Given the description of an element on the screen output the (x, y) to click on. 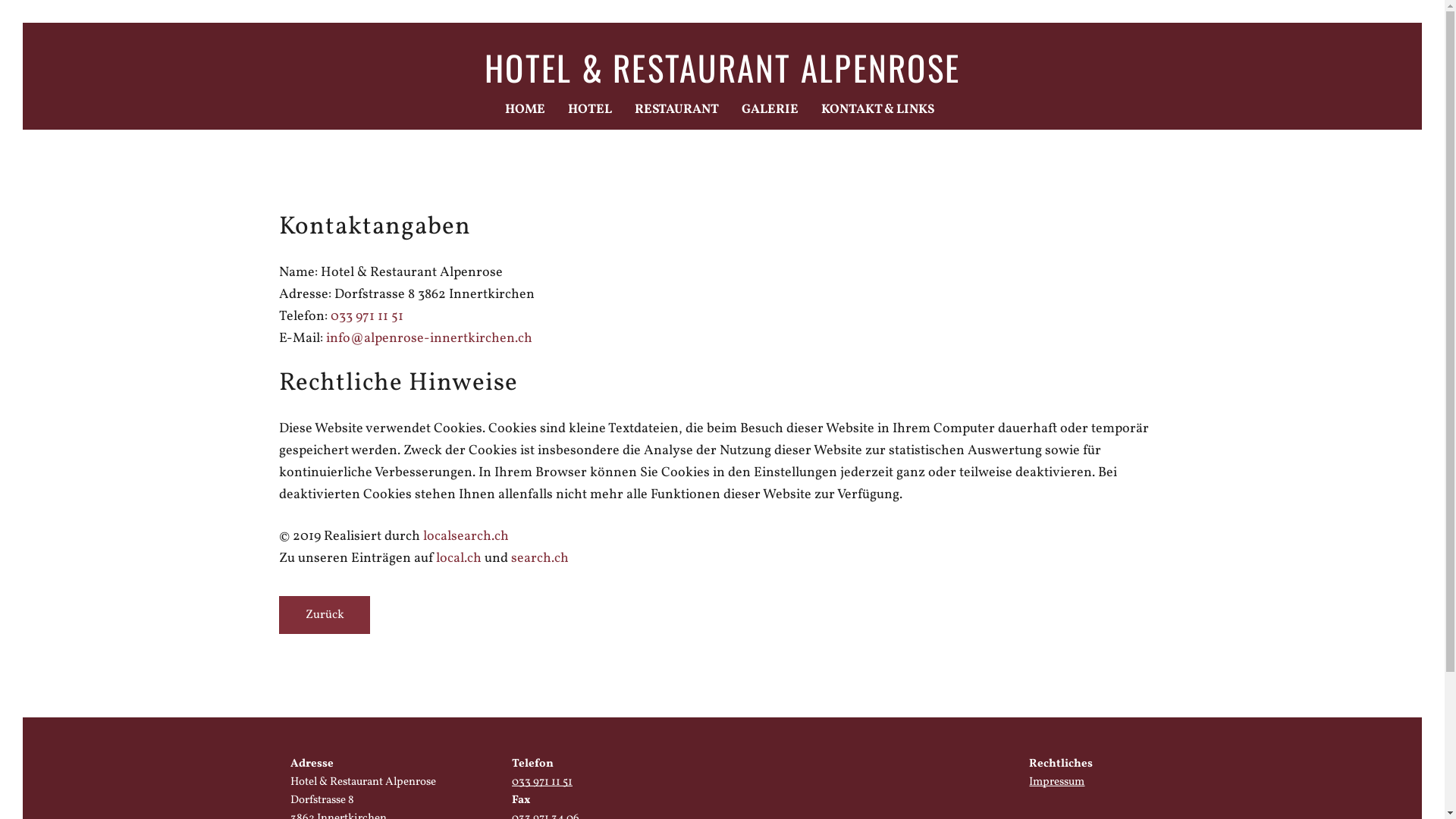
HOTEL Element type: text (589, 109)
RESTAURANT Element type: text (675, 109)
HOTEL & RESTAURANT ALPENROSE Element type: text (722, 66)
033 971 11 51 Element type: text (366, 316)
localsearch.ch Element type: text (465, 536)
KONTAKT & LINKS Element type: text (876, 109)
HOME Element type: text (525, 109)
info@alpenrose-innertkirchen.ch Element type: text (429, 338)
search.ch Element type: text (539, 558)
033 971 11 51 Element type: text (541, 791)
GALERIE Element type: text (769, 109)
local.ch Element type: text (457, 558)
Impressum Element type: text (1056, 782)
